Given the description of an element on the screen output the (x, y) to click on. 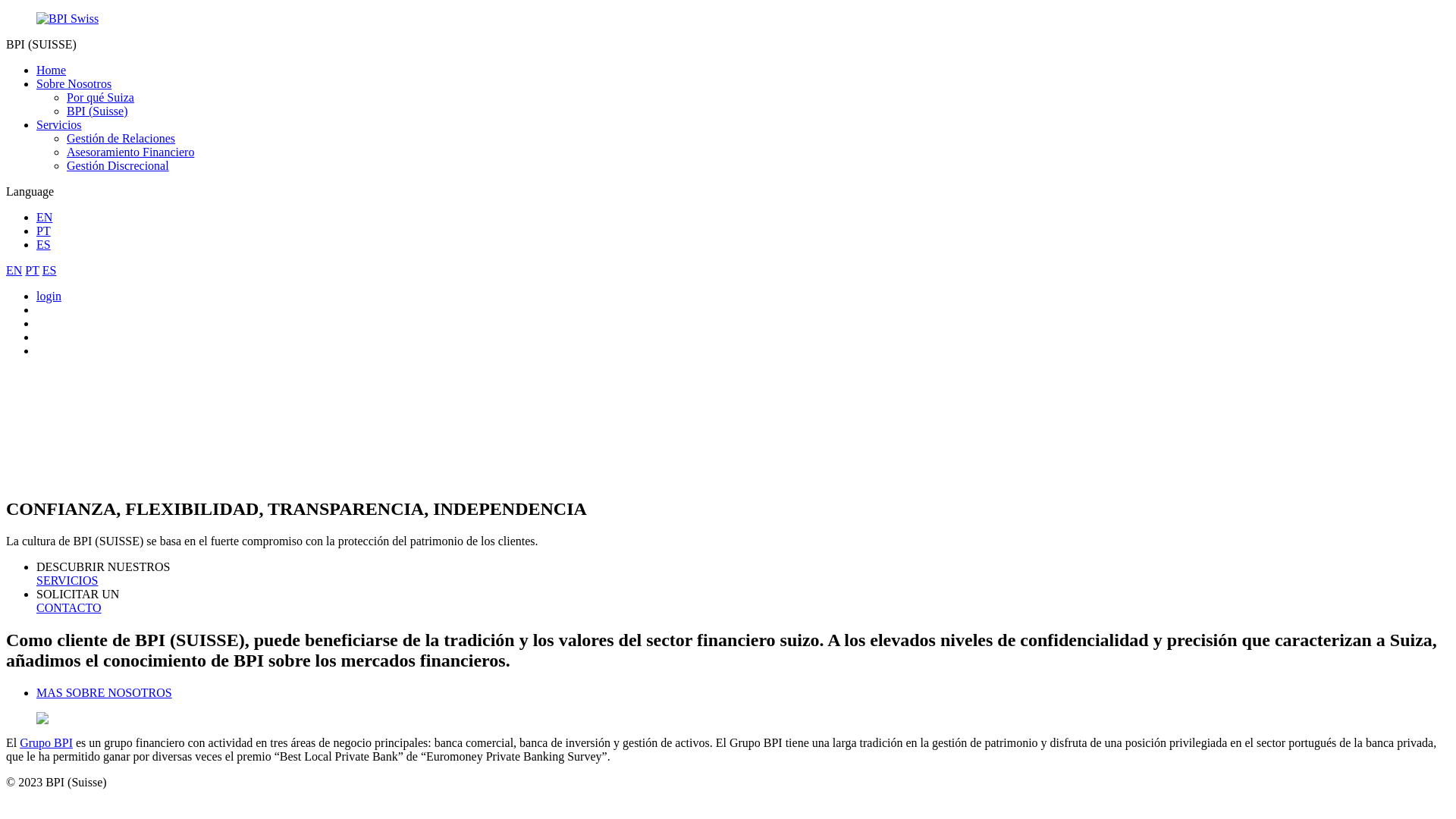
PT Element type: text (31, 269)
Sobre Nosotros Element type: text (73, 83)
MAS SOBRE NOSOTROS Element type: text (104, 692)
login Element type: text (48, 295)
ES Element type: text (43, 244)
BPI (Suisse) Element type: text (96, 110)
PT Element type: text (43, 230)
EN Element type: text (44, 216)
Asesoramiento Financiero Element type: text (130, 151)
SERVICIOS Element type: text (66, 580)
EN Element type: text (13, 269)
Grupo BPI Element type: text (45, 742)
CONTACTO Element type: text (68, 607)
ES Element type: text (49, 269)
Servicios Element type: text (58, 124)
Home Element type: text (50, 69)
